Given the description of an element on the screen output the (x, y) to click on. 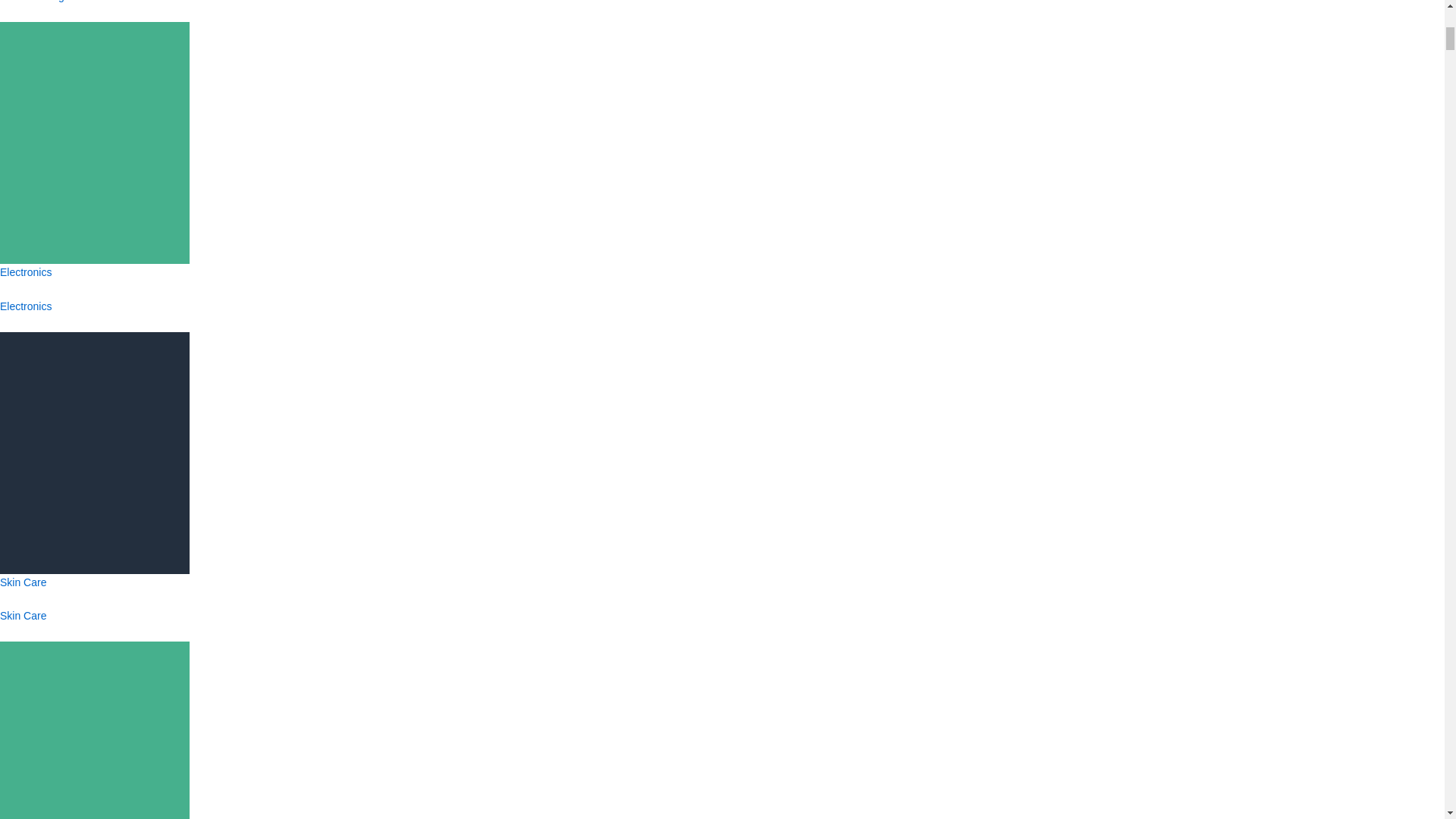
Video Games (94, 787)
Skin Care (23, 615)
See All Categories (43, 1)
Electronics (25, 306)
